Given the description of an element on the screen output the (x, y) to click on. 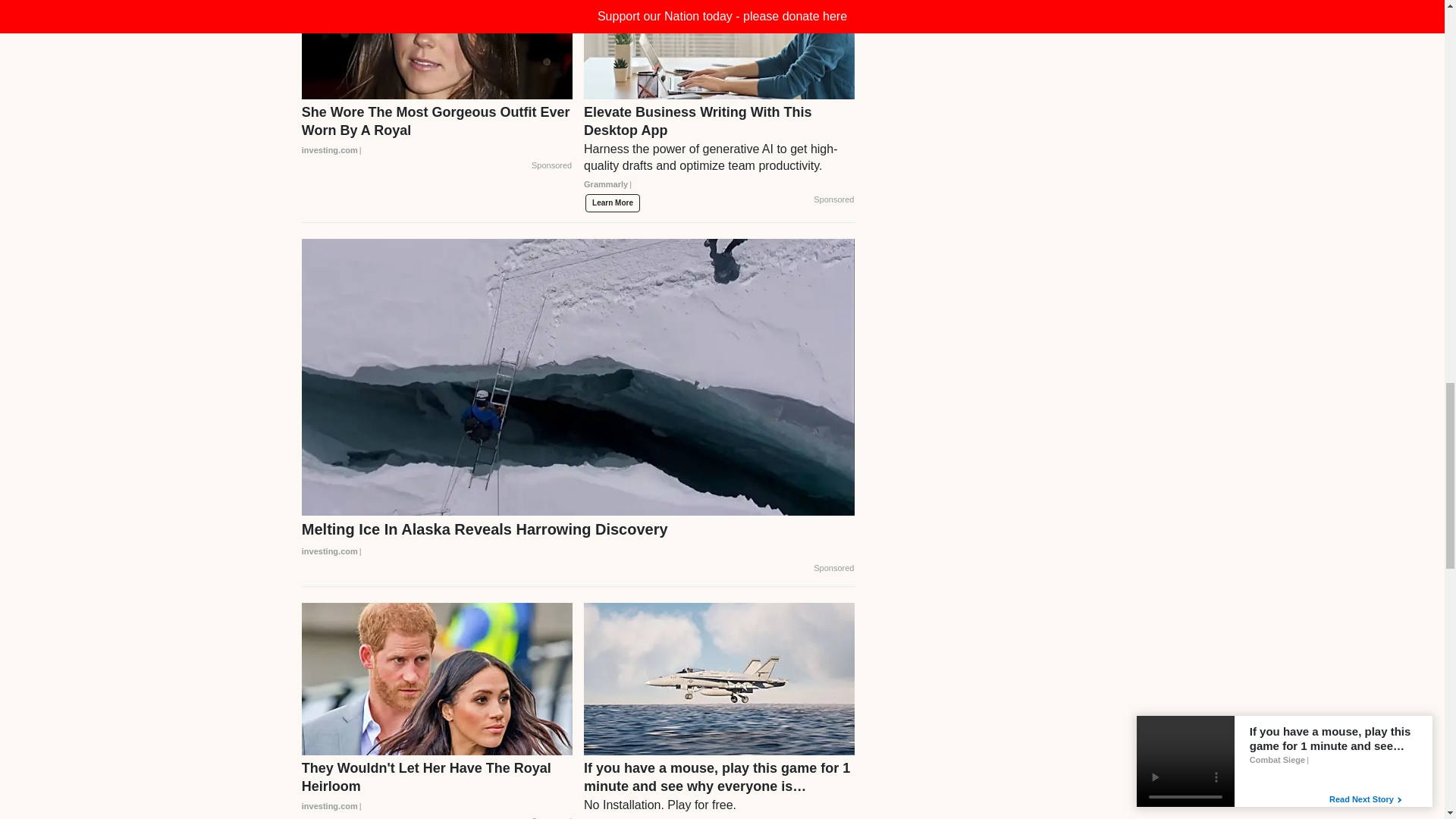
Melting Ice In Alaska Reveals Harrowing Discovery (578, 540)
Elevate Business Writing With This Desktop App (718, 153)
She Wore The Most Gorgeous Outfit Ever Worn By A Royal (436, 130)
Sponsored (551, 165)
